Given the description of an element on the screen output the (x, y) to click on. 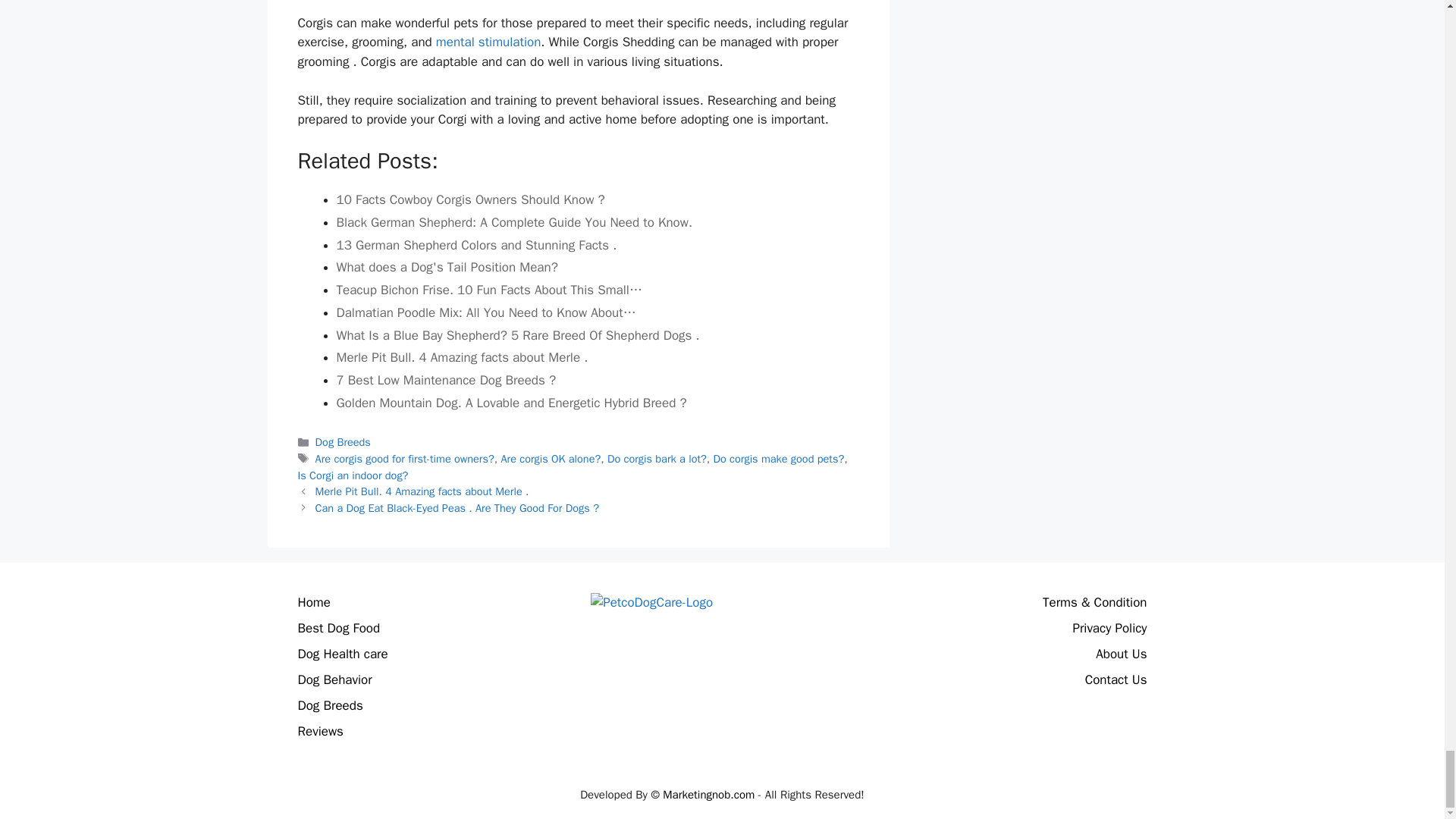
mental stimulation (488, 41)
13 German Shepherd Colors and Stunning Facts . (597, 245)
Black German Shepherd: A Complete Guide You Need to Know. (597, 222)
10 Facts Cowboy Corgis Owners Should Know ? (597, 199)
